Given the description of an element on the screen output the (x, y) to click on. 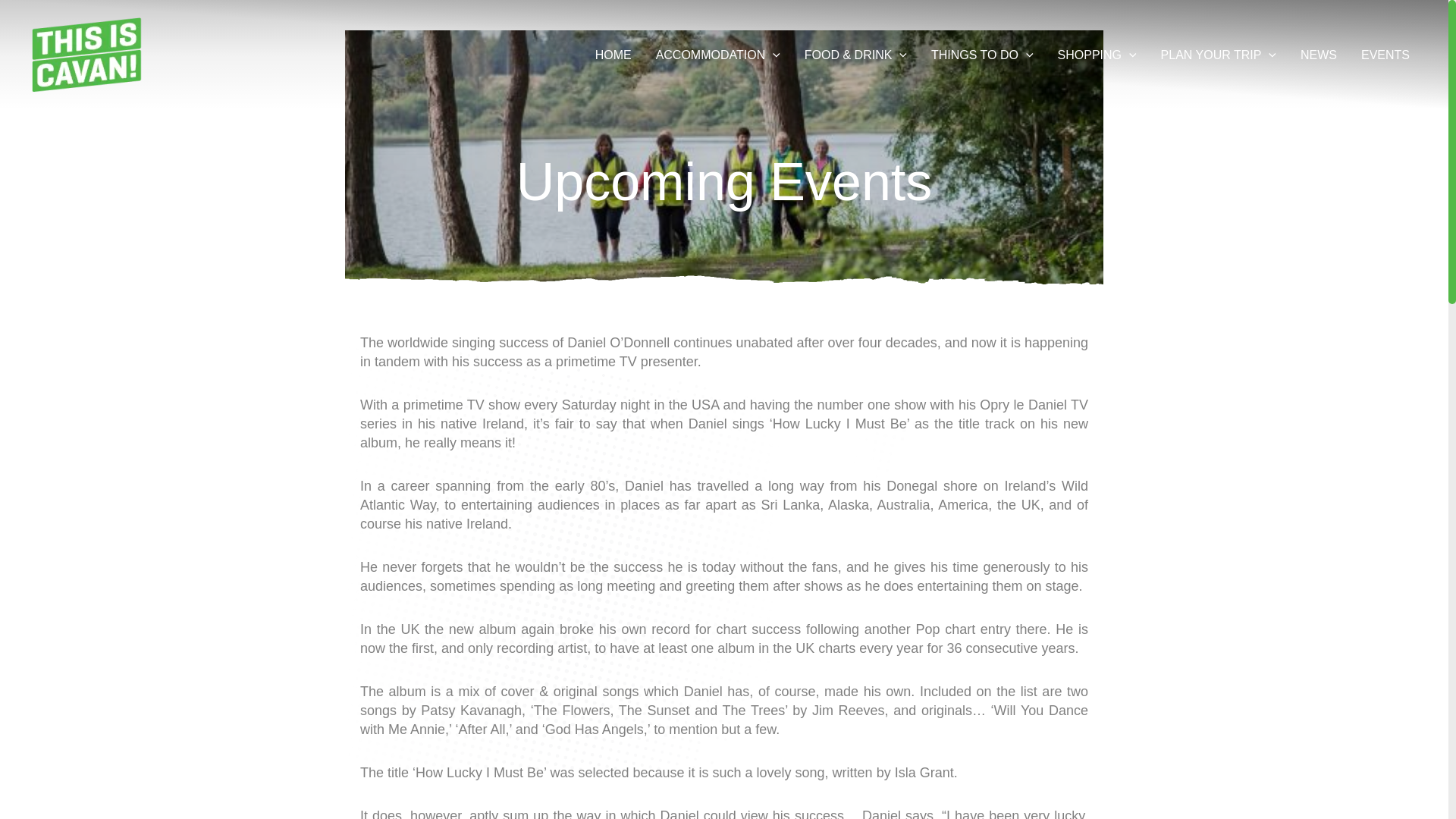
THINGS TO DO (981, 54)
PLAN YOUR TRIP (1218, 54)
SHOPPING (1096, 54)
HOME (613, 54)
ACCOMMODATION (717, 54)
